Given the description of an element on the screen output the (x, y) to click on. 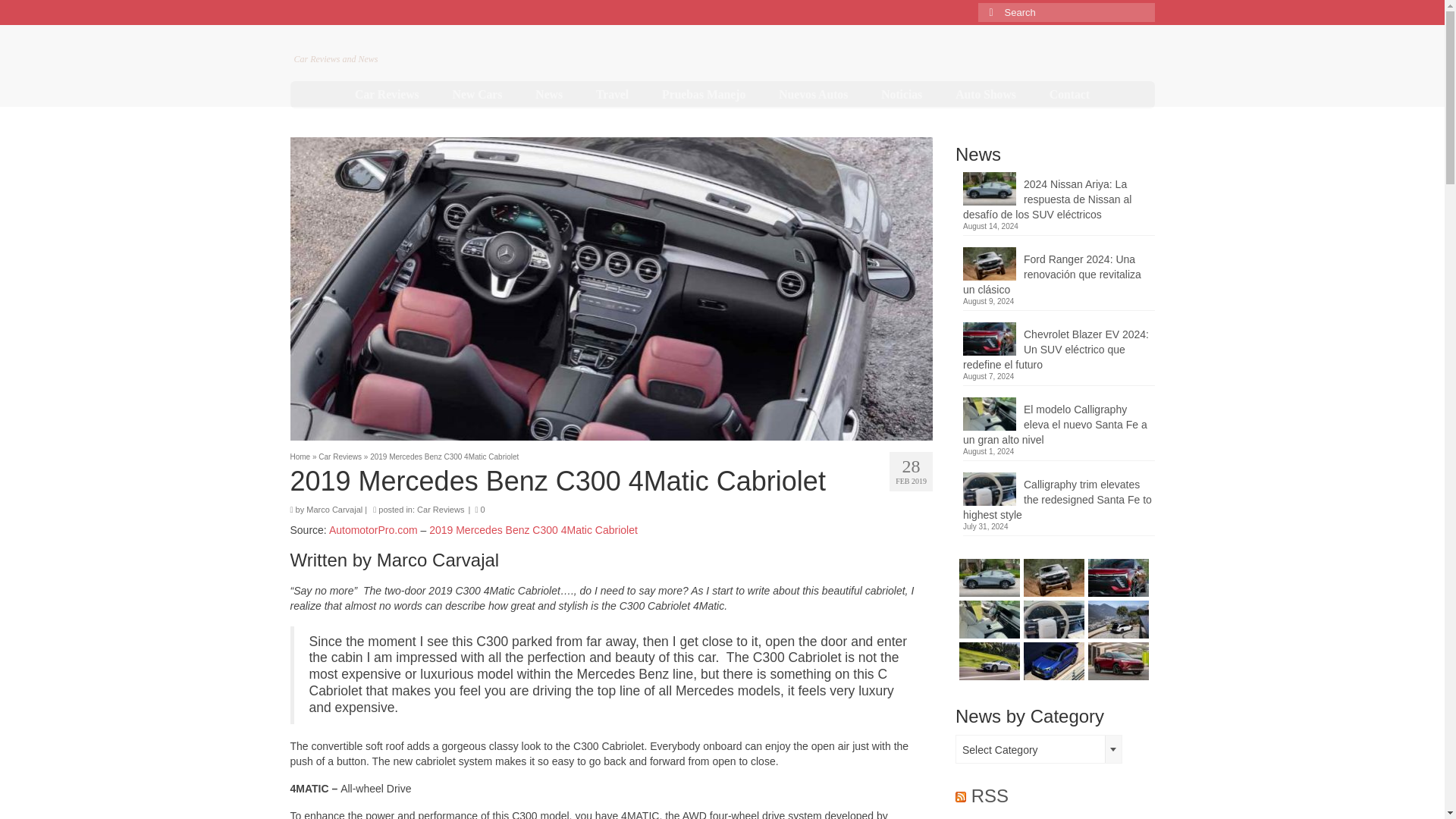
AutomotorMassachusetts.com (432, 42)
Noticias (901, 94)
AutomotorMassachusetts.com (432, 42)
Nuevos Autos (812, 94)
Travel (611, 94)
Contact (1069, 94)
New Cars (478, 94)
Car Reviews (386, 94)
News (548, 94)
Pruebas Manejo (703, 94)
